Given the description of an element on the screen output the (x, y) to click on. 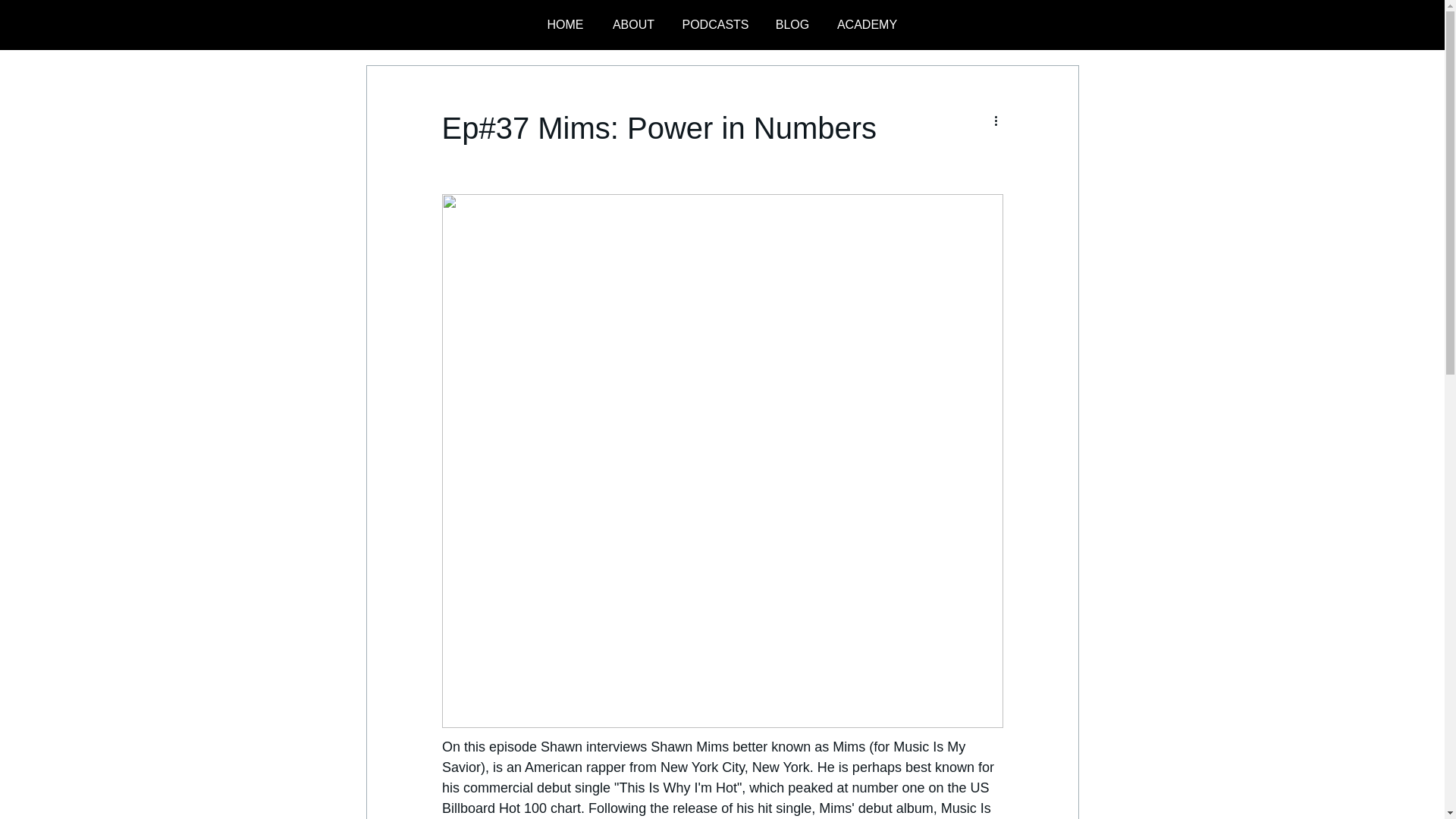
ACADEMY (867, 24)
BLOG (791, 24)
HOME (564, 24)
PODCASTS (714, 24)
ABOUT (632, 24)
